Given the description of an element on the screen output the (x, y) to click on. 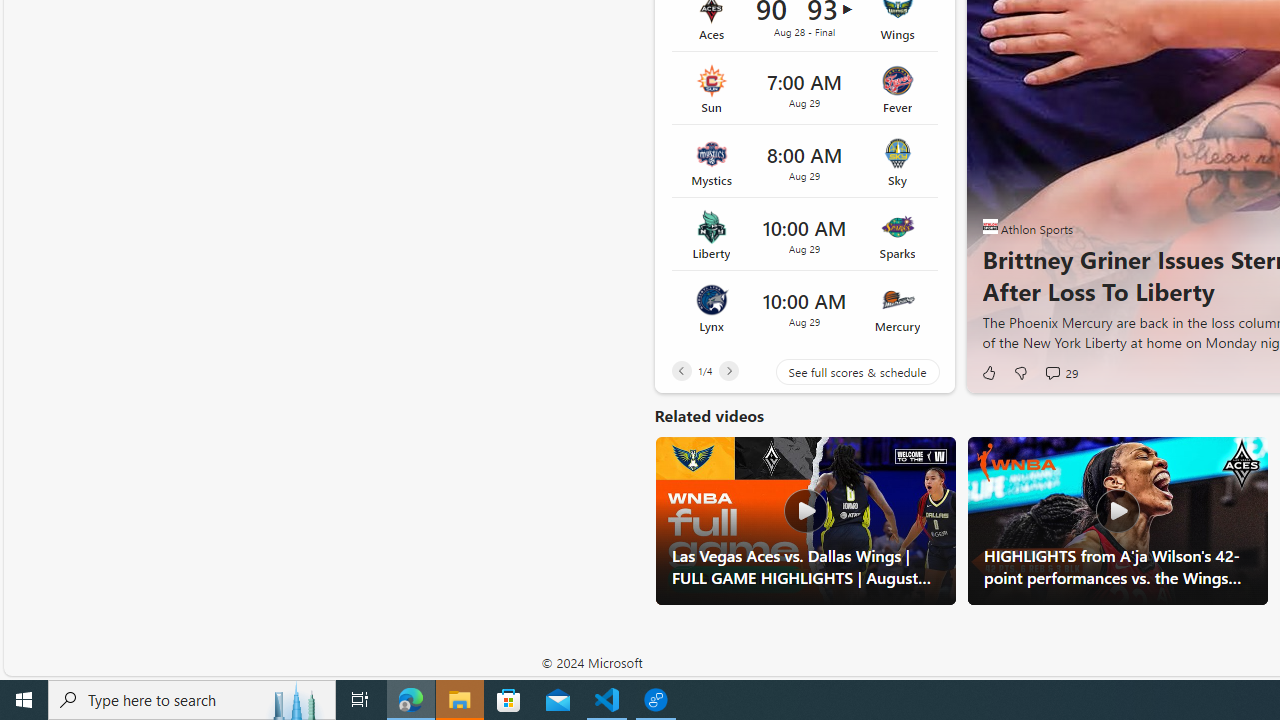
Dislike (1019, 372)
